Given the description of an element on the screen output the (x, y) to click on. 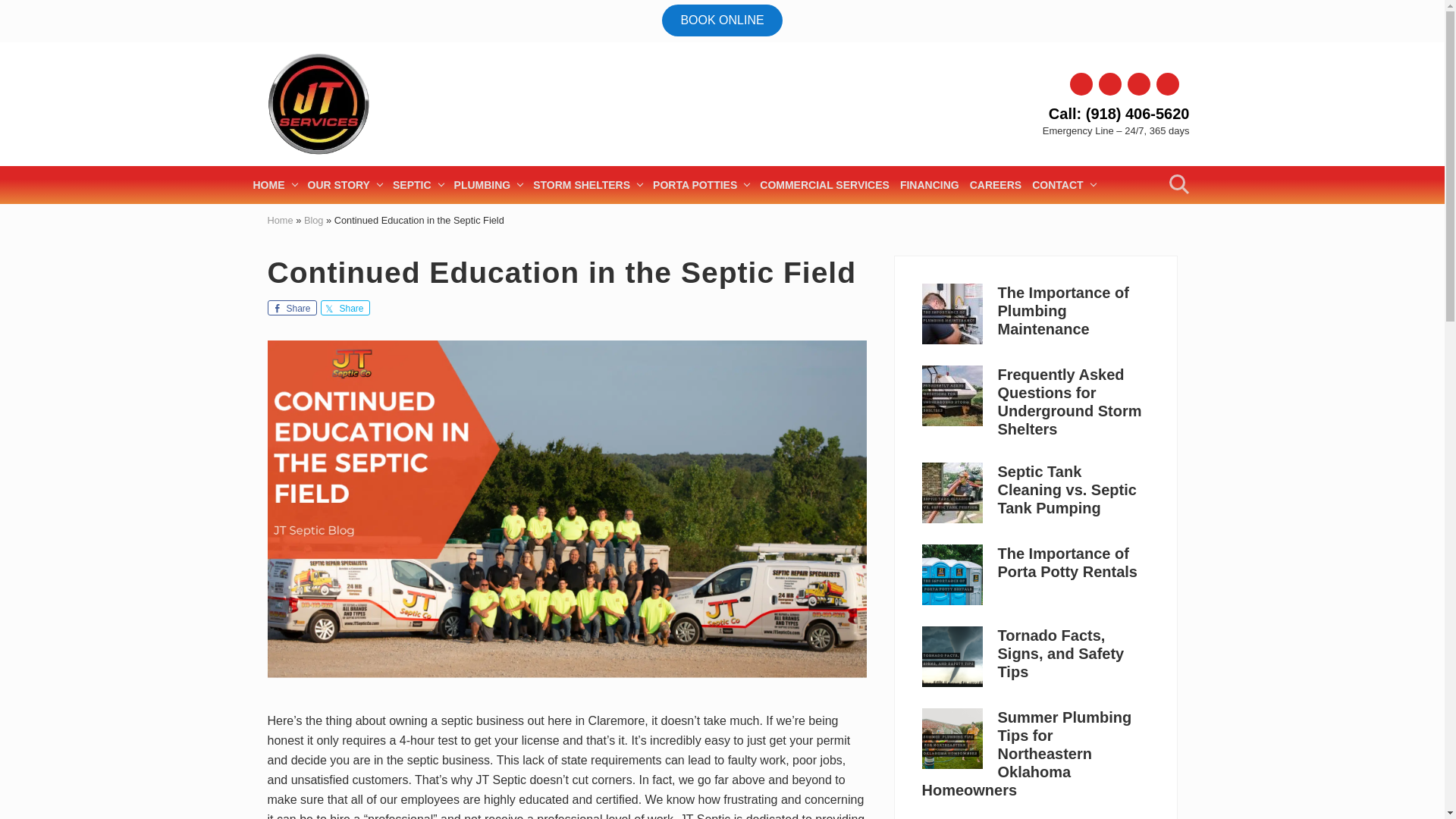
BOOK ONLINE (721, 20)
